Given the description of an element on the screen output the (x, y) to click on. 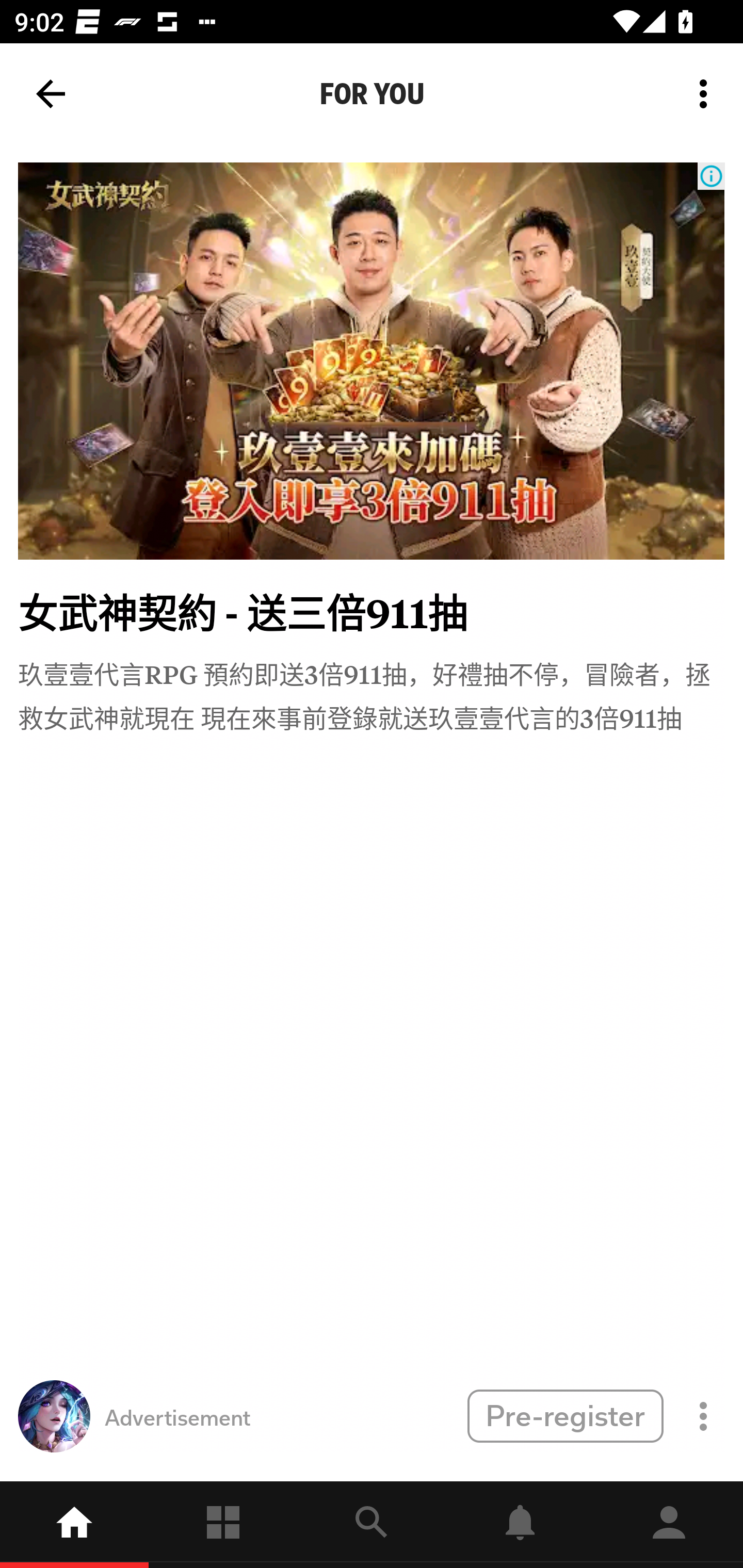
Back (50, 93)
FOR YOU (371, 93)
More options (706, 93)
Ad Choices Icon (711, 176)
Pre-register (565, 1415)
home (74, 1524)
Following (222, 1524)
explore (371, 1524)
Notifications (519, 1524)
Profile (668, 1524)
